Given the description of an element on the screen output the (x, y) to click on. 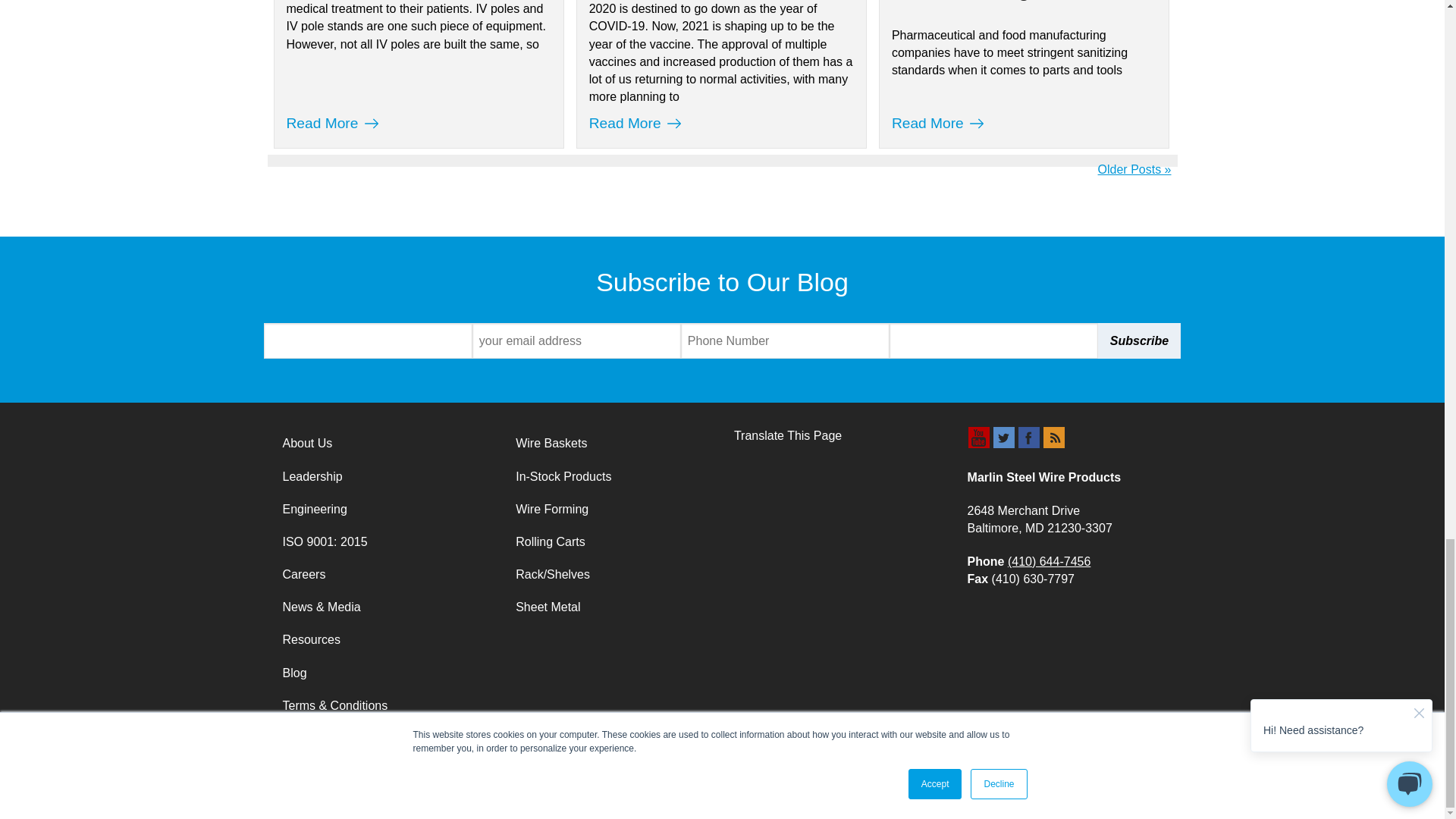
Subscribe (1138, 340)
